Given the description of an element on the screen output the (x, y) to click on. 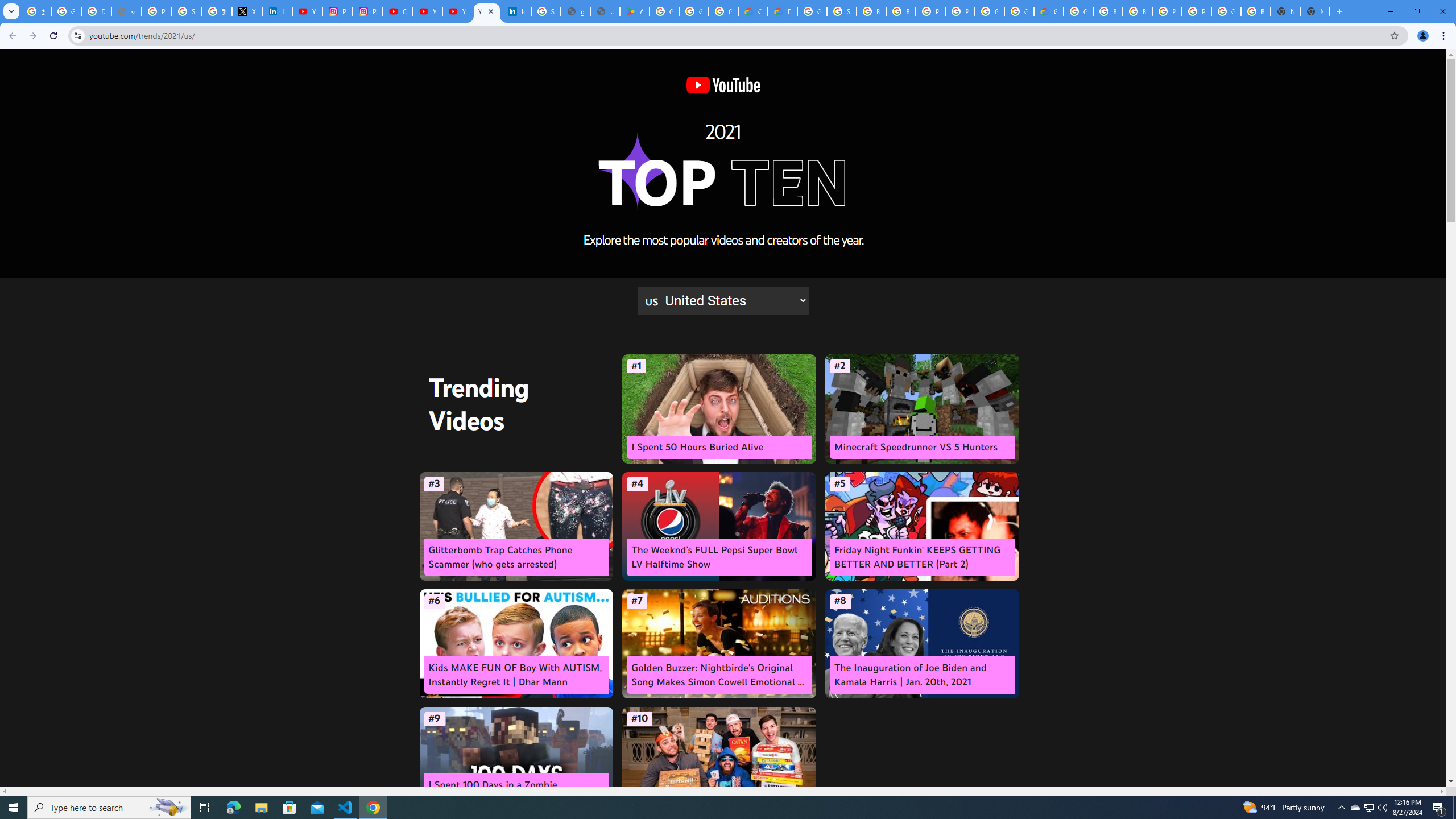
Privacy Help Center - Policies Help (156, 11)
YouTube Content Monetization Policies - How YouTube Works (306, 11)
Browse Chrome as a guest - Computer - Google Chrome Help (1107, 11)
Browse Chrome as a guest - Computer - Google Chrome Help (900, 11)
Sign in - Google Accounts (841, 11)
Google Cloud Platform (1077, 11)
Browse Chrome as a guest - Computer - Google Chrome Help (871, 11)
